Given the description of an element on the screen output the (x, y) to click on. 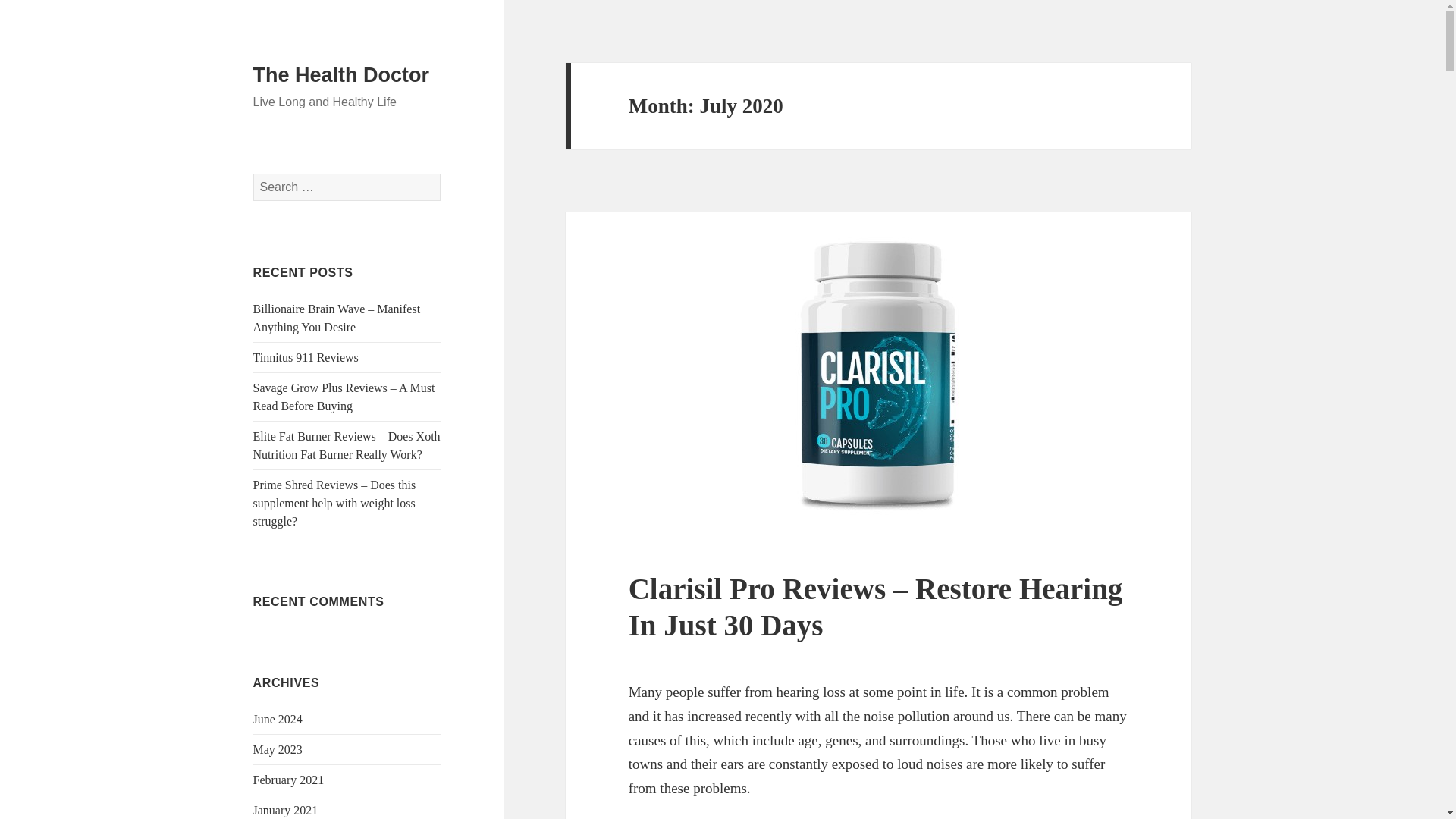
February 2021 (288, 779)
May 2023 (277, 748)
June 2024 (277, 718)
The Health Doctor (341, 74)
January 2021 (285, 809)
Tinnitus 911 Reviews (305, 357)
